Given the description of an element on the screen output the (x, y) to click on. 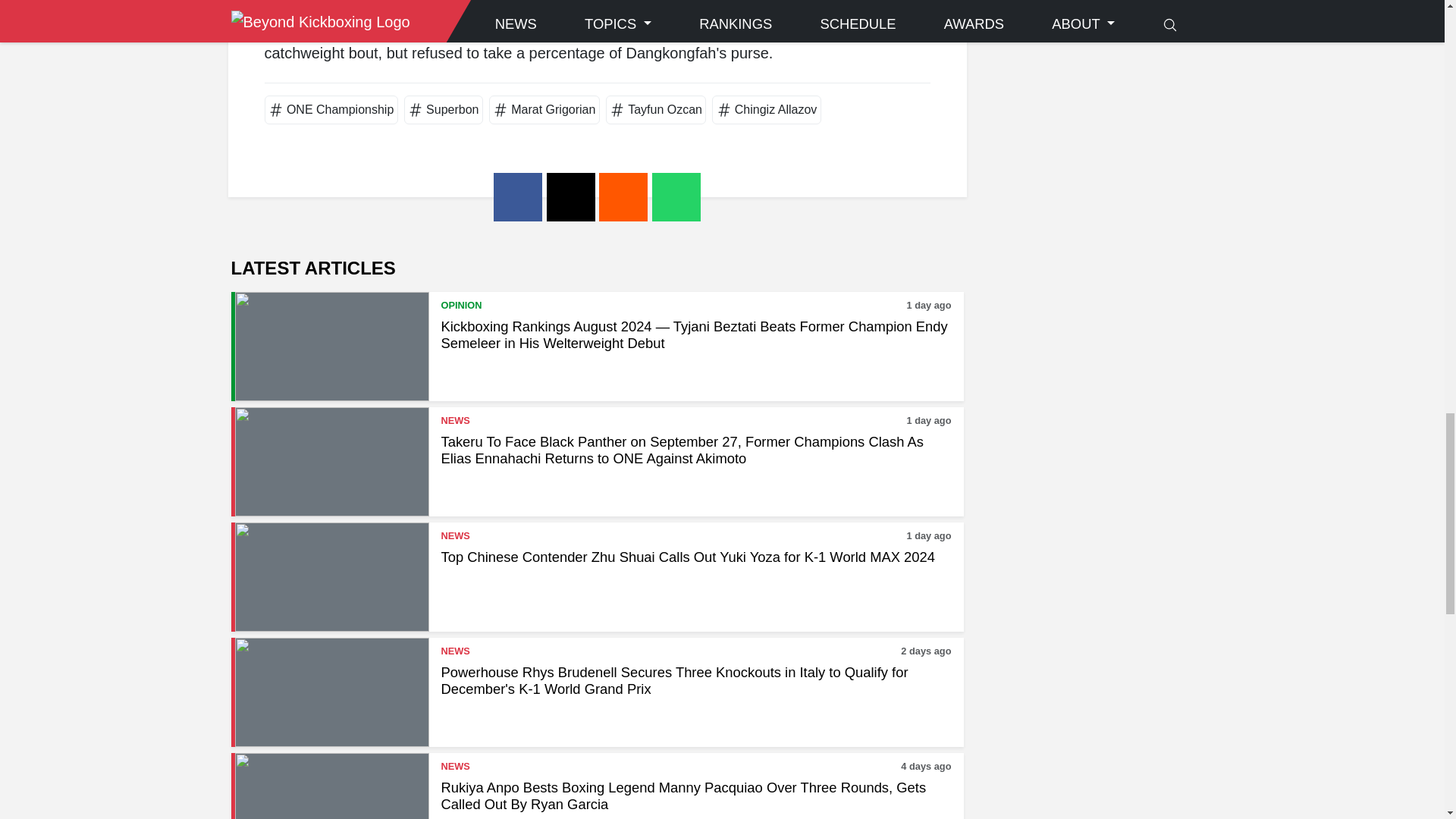
Tayfun Ozcan (664, 109)
Chingiz Allazov (775, 109)
Marat Grigorian (553, 109)
ONE Championship (339, 109)
Superbon (452, 109)
